Given the description of an element on the screen output the (x, y) to click on. 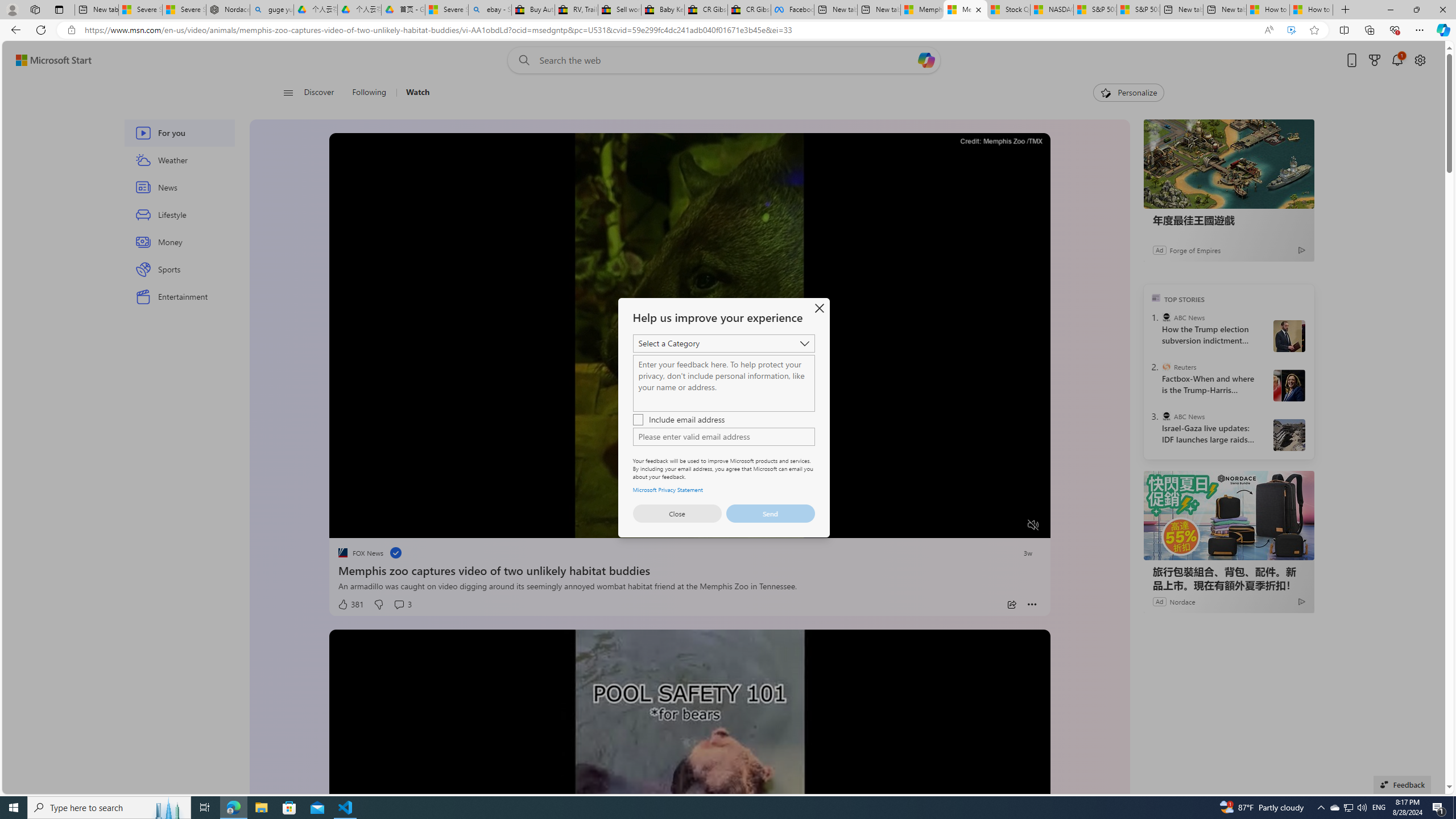
Share (1010, 604)
View comments 3 Comment (402, 604)
Captions (988, 525)
